Given the description of an element on the screen output the (x, y) to click on. 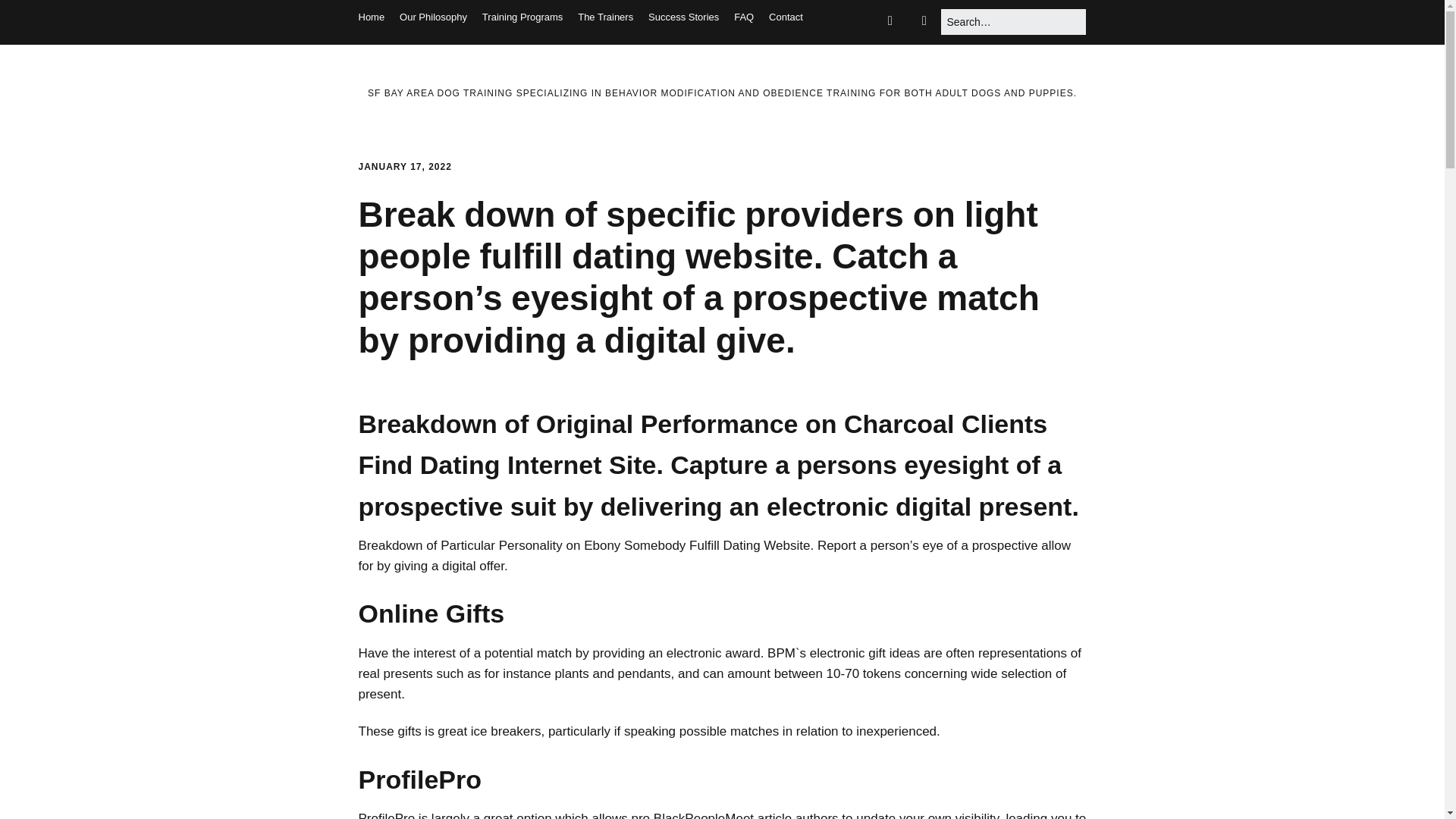
Search (31, 16)
Home (371, 16)
Success Stories (683, 16)
The Trainers (605, 16)
Our Philosophy (432, 16)
FAQ (743, 16)
Training Programs (521, 16)
Contact (785, 16)
Press Enter to submit your search (1013, 22)
